Given the description of an element on the screen output the (x, y) to click on. 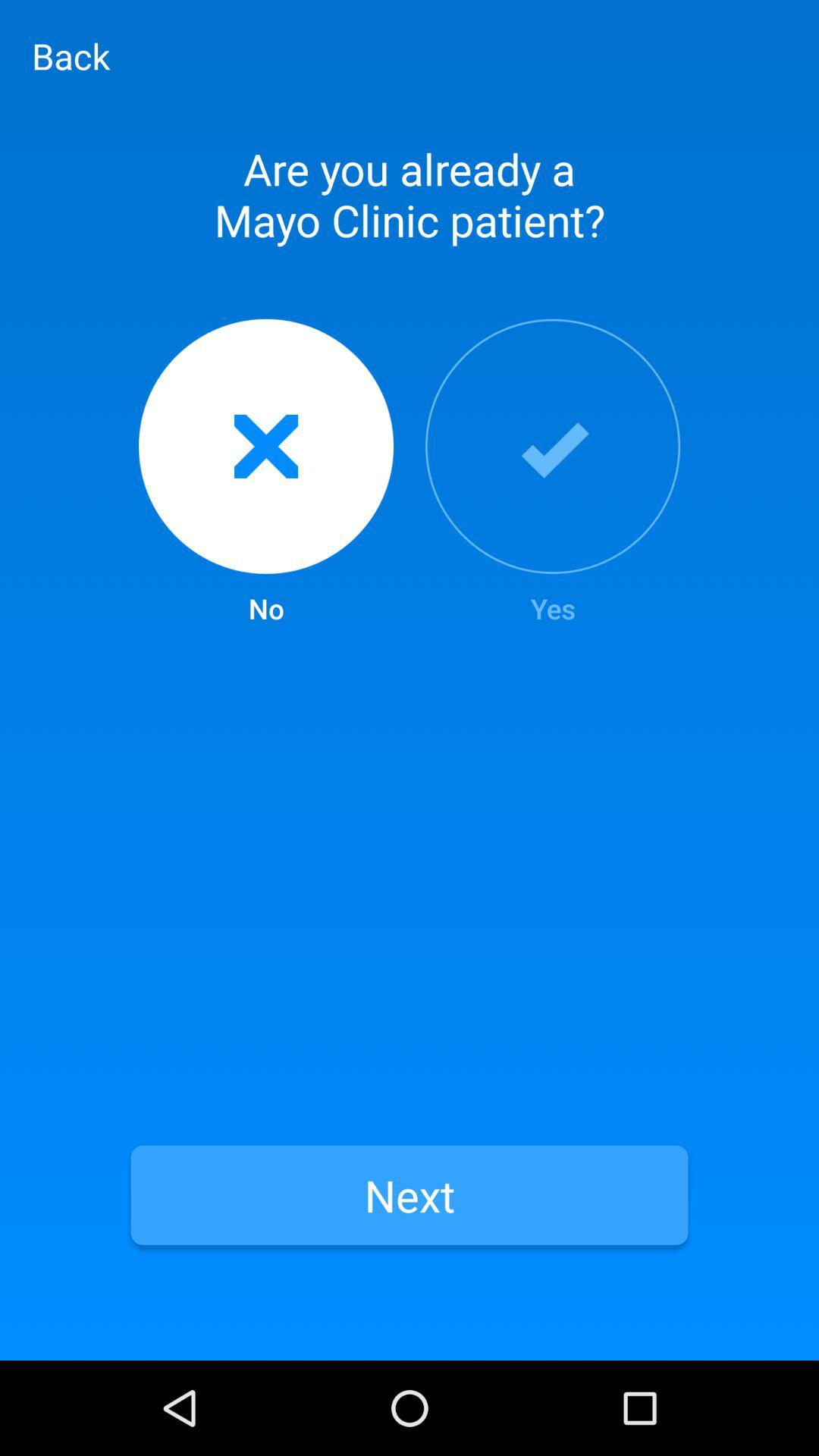
turn off the item above next item (552, 473)
